Given the description of an element on the screen output the (x, y) to click on. 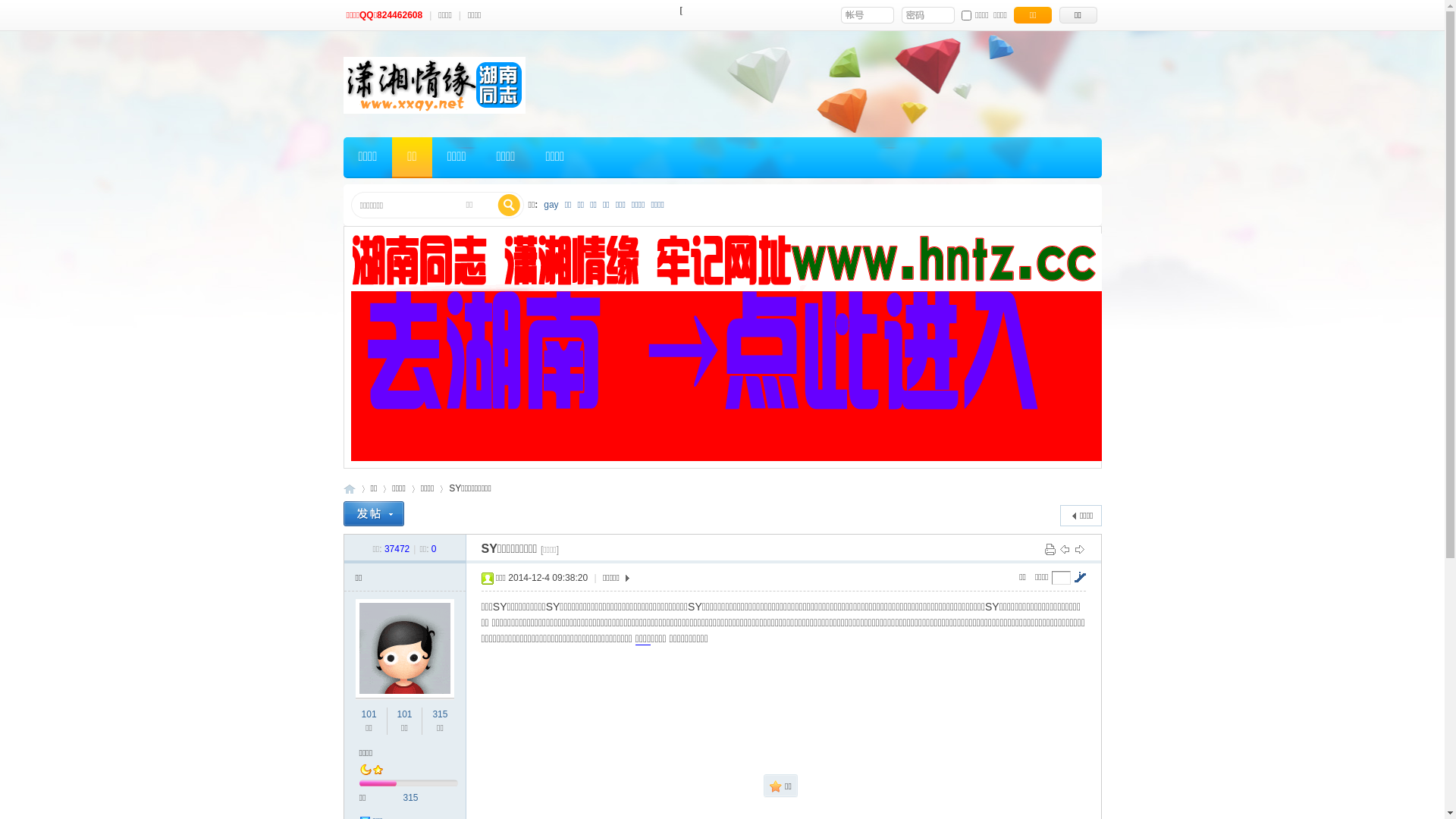
315 Element type: text (439, 714)
101 Element type: text (368, 714)
101 Element type: text (403, 714)
315 Element type: text (410, 797)
gay Element type: text (550, 204)
true Element type: text (508, 205)
